Given the description of an element on the screen output the (x, y) to click on. 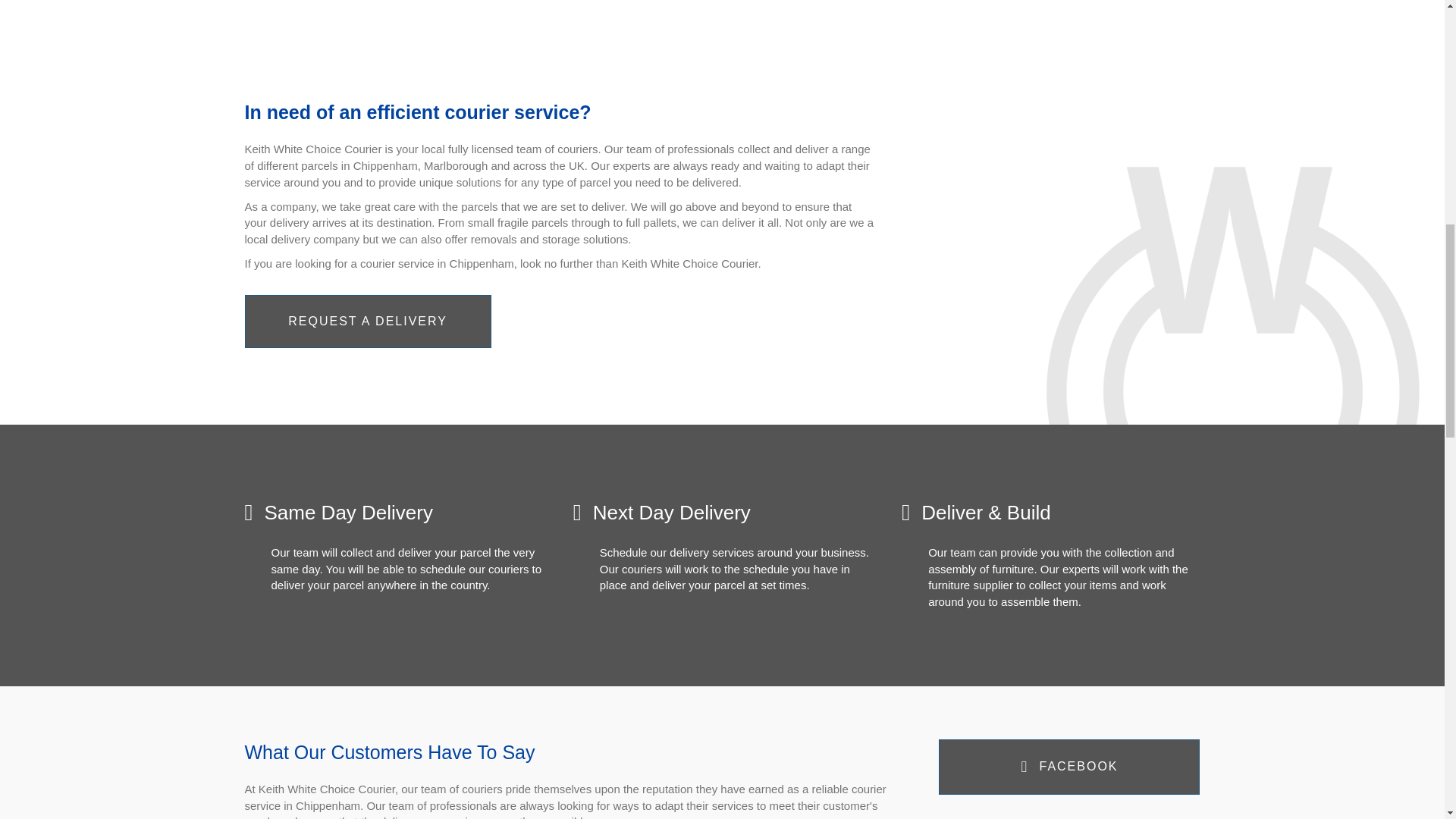
REQUEST A DELIVERY (367, 321)
FACEBOOK (1069, 766)
